Given the description of an element on the screen output the (x, y) to click on. 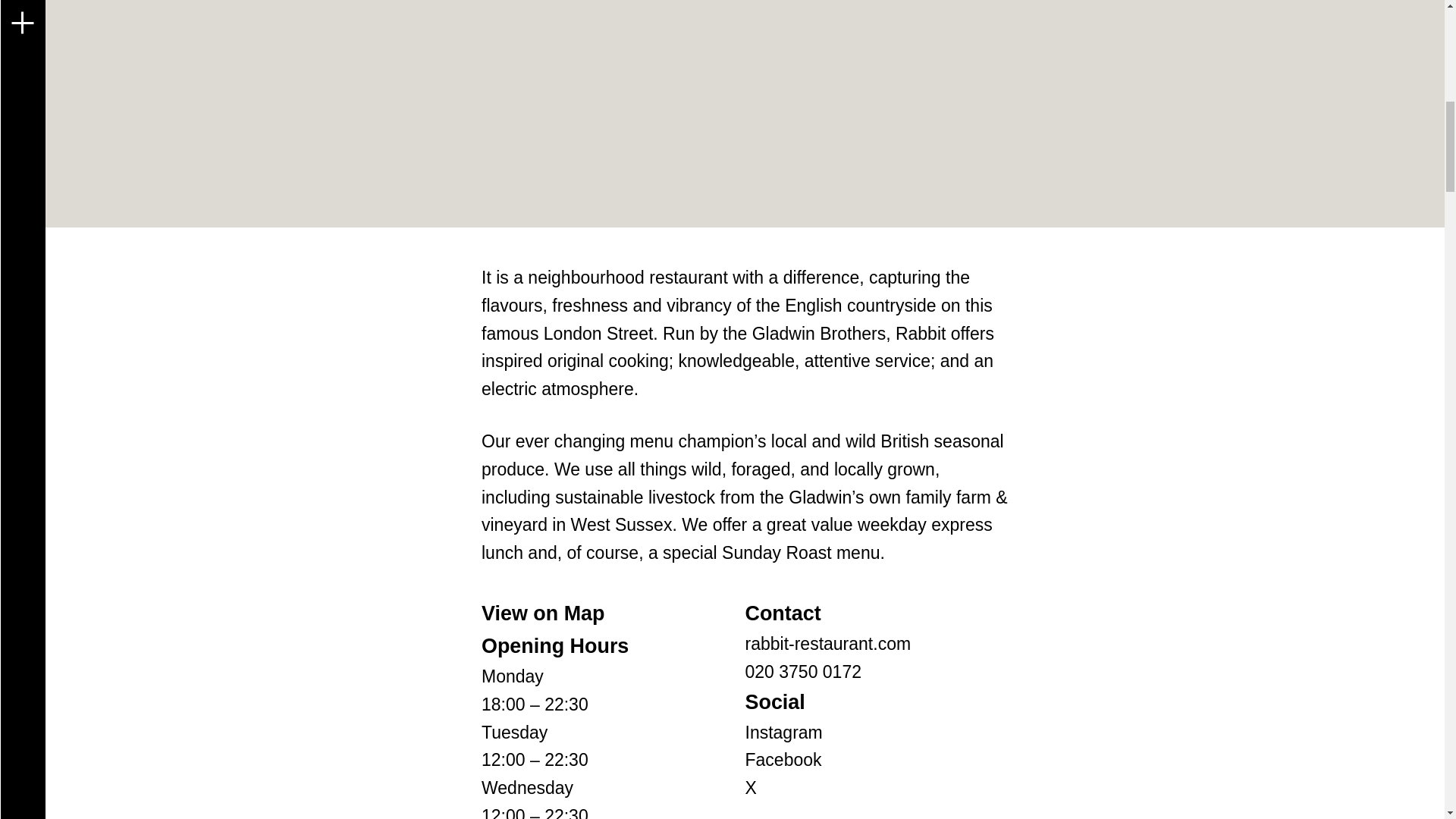
Instagram (783, 732)
rabbit-restaurant.com (827, 643)
020 3750 0172 (802, 671)
Facebook (782, 759)
View on Map (542, 612)
